Given the description of an element on the screen output the (x, y) to click on. 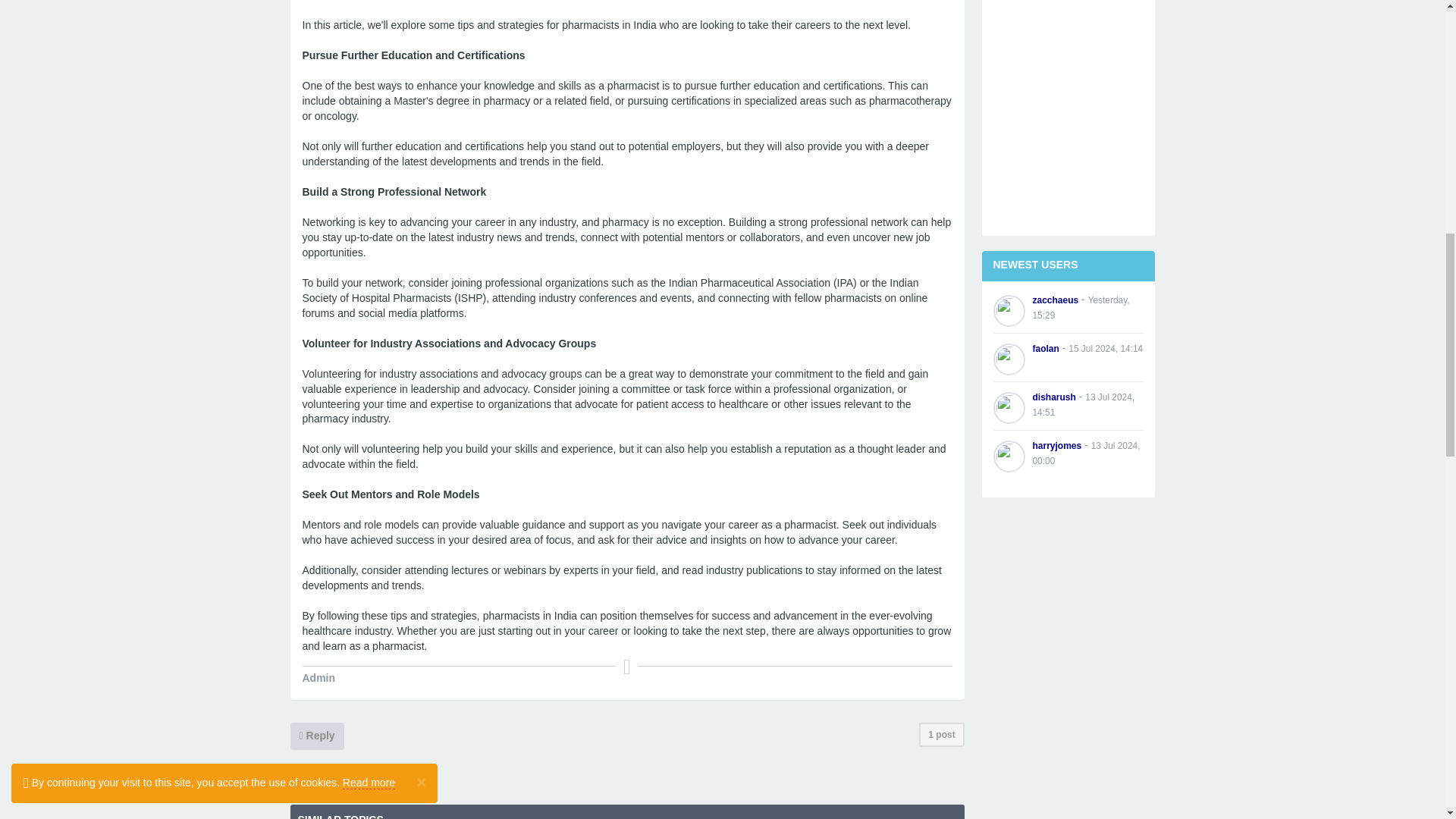
Advertisement (1067, 112)
smile (346, 678)
disharush (1053, 397)
harryjomes (1056, 445)
faolan (1045, 348)
zacchaeus (1055, 299)
